Given the description of an element on the screen output the (x, y) to click on. 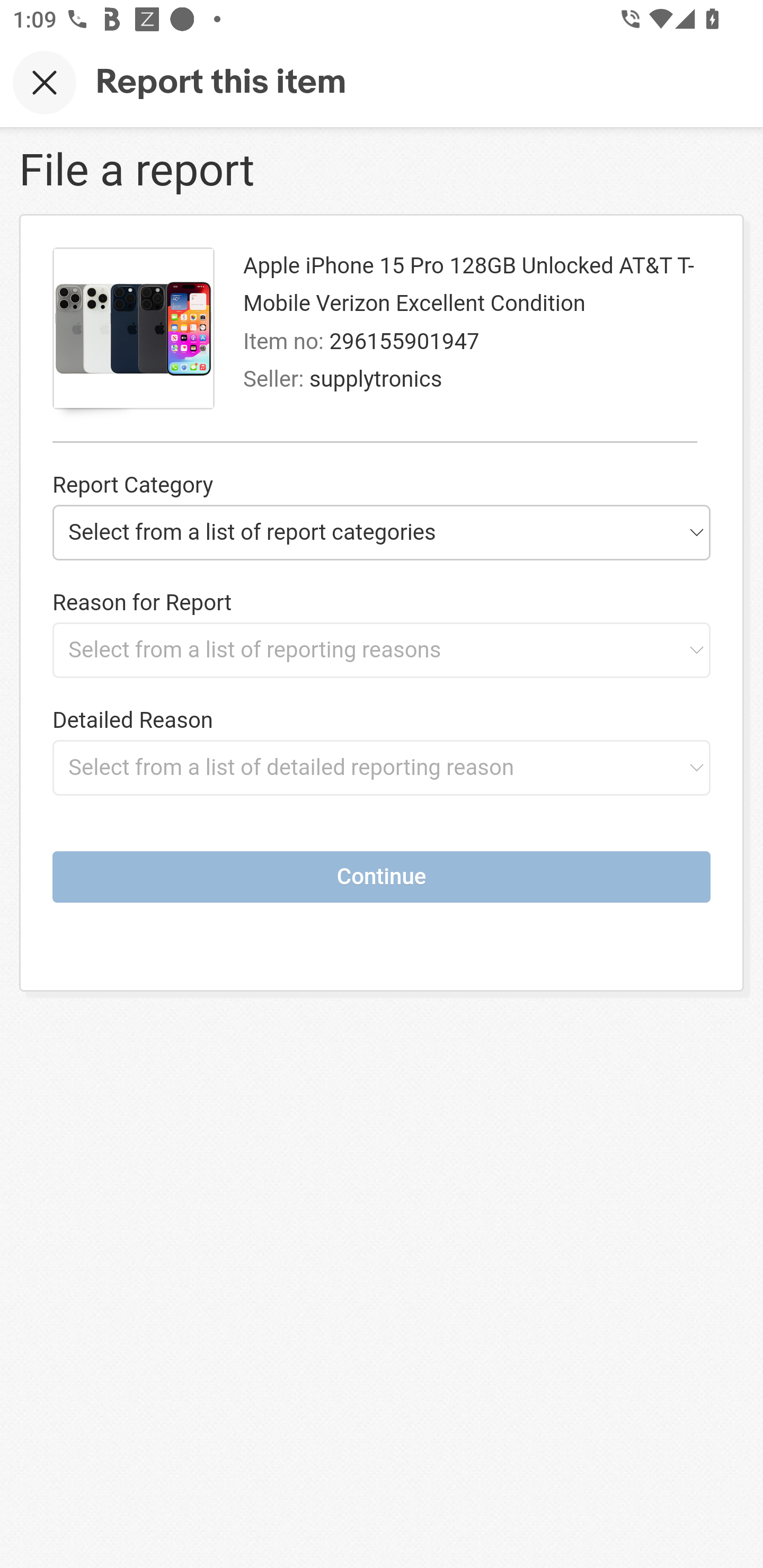
Close (44, 82)
Select from a list of report categories (381, 532)
Select from a list of reporting reasons (381, 649)
Select from a list of detailed reporting reason (381, 767)
Continue (381, 876)
